Given the description of an element on the screen output the (x, y) to click on. 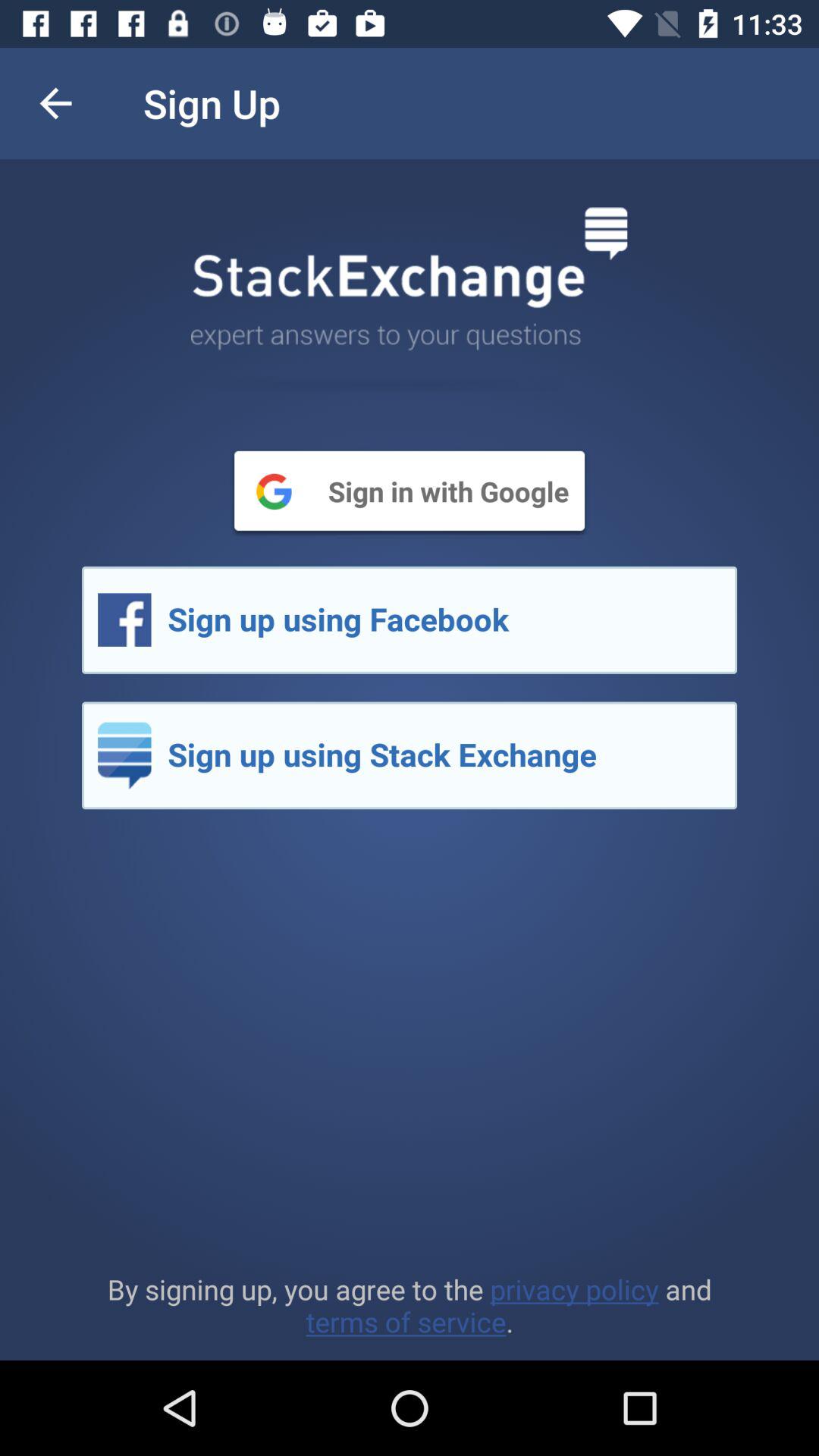
sign up using stack exchange (409, 755)
